Given the description of an element on the screen output the (x, y) to click on. 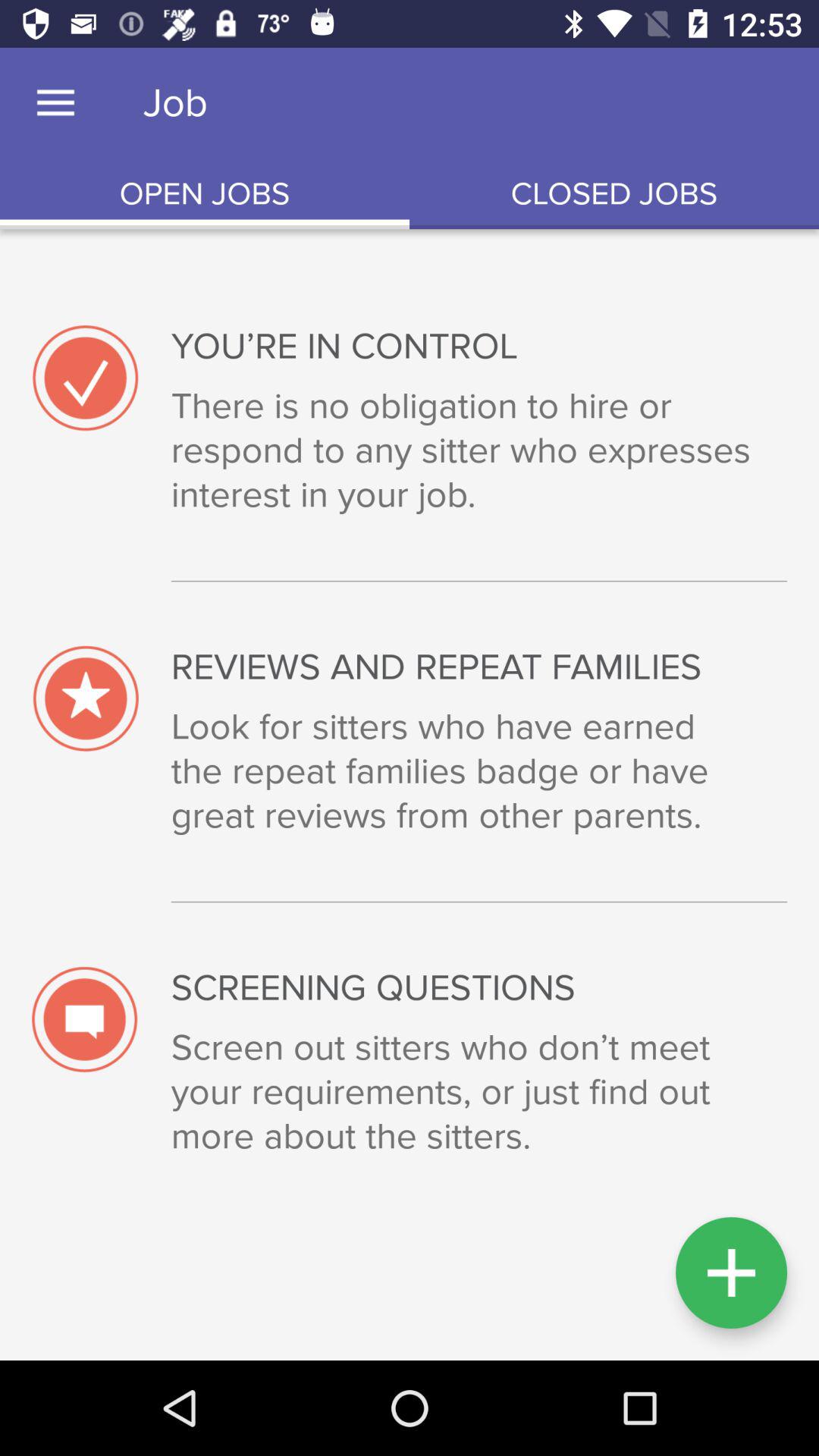
choose item to the left of the closed jobs (204, 194)
